Given the description of an element on the screen output the (x, y) to click on. 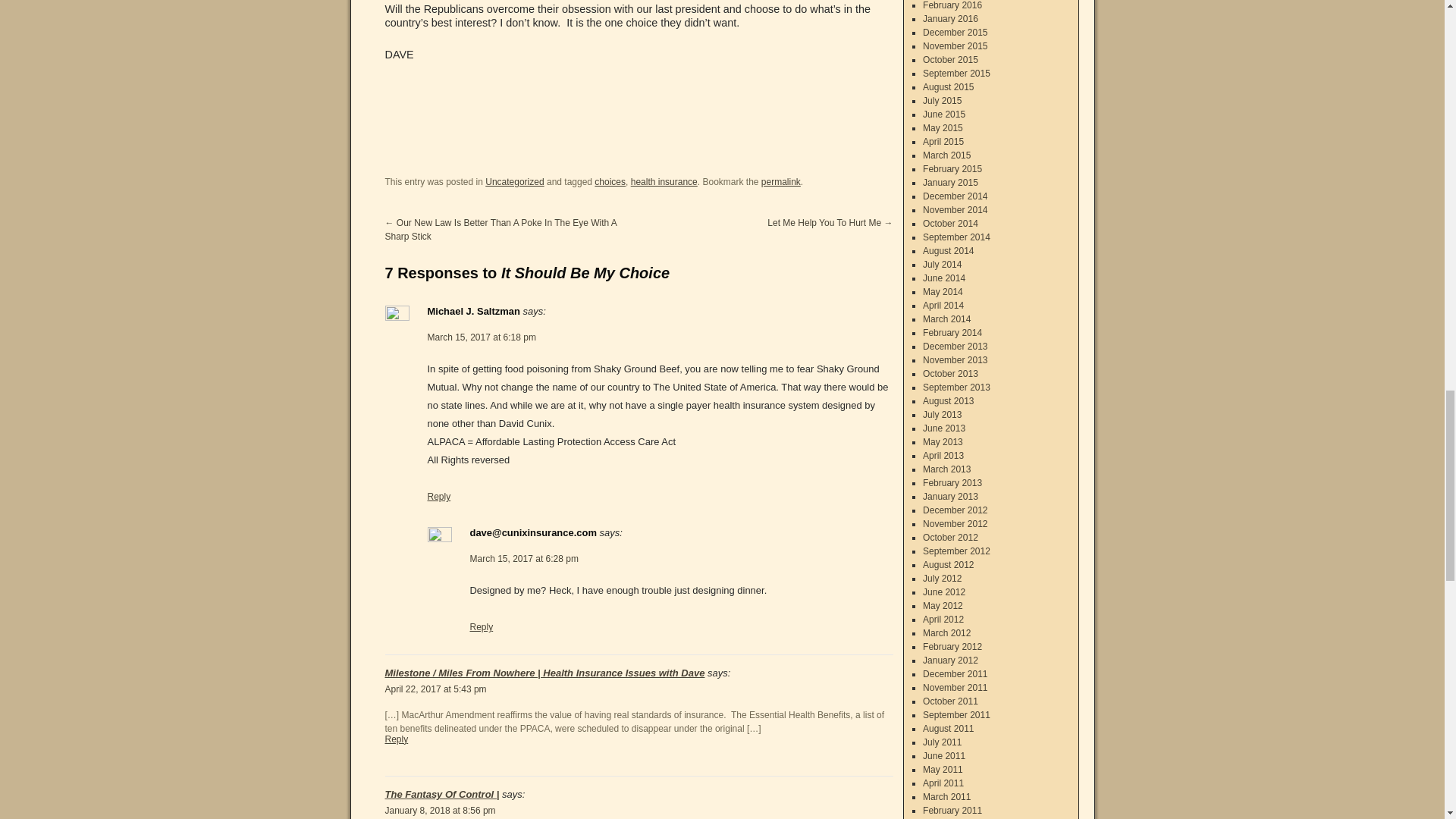
choices (610, 181)
health insurance (663, 181)
Reply (397, 738)
Reply (439, 496)
March 15, 2017 at 6:18 pm (481, 337)
permalink (780, 181)
Uncategorized (513, 181)
Reply (481, 626)
March 15, 2017 at 6:28 pm (524, 558)
April 22, 2017 at 5:43 pm (435, 688)
Permalink to It Should Be My Choice (780, 181)
January 8, 2018 at 8:56 pm (440, 810)
